Given the description of an element on the screen output the (x, y) to click on. 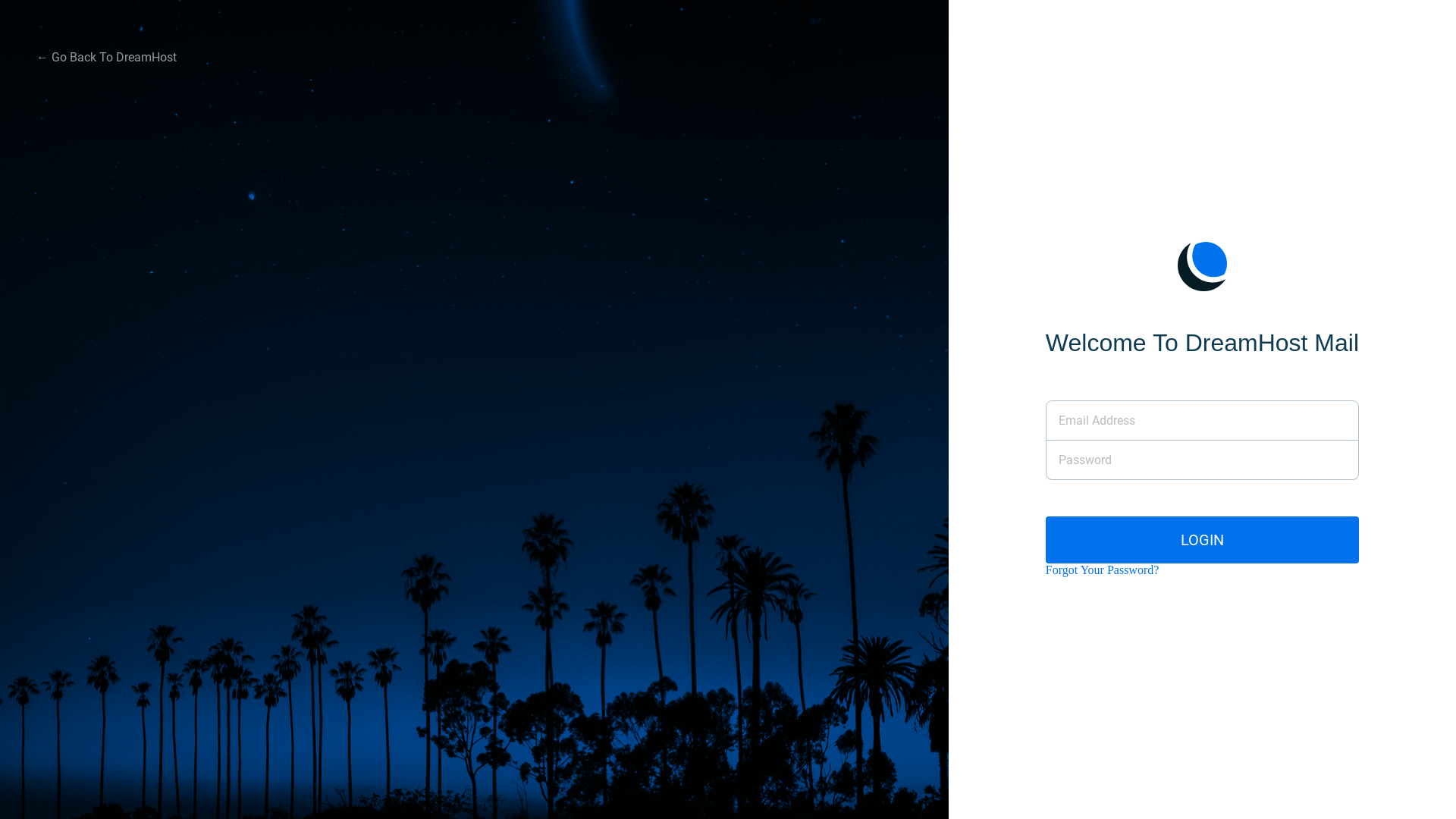
LOGIN Element type: text (1201, 539)
Forgot Your Password? Element type: text (1102, 569)
